Given the description of an element on the screen output the (x, y) to click on. 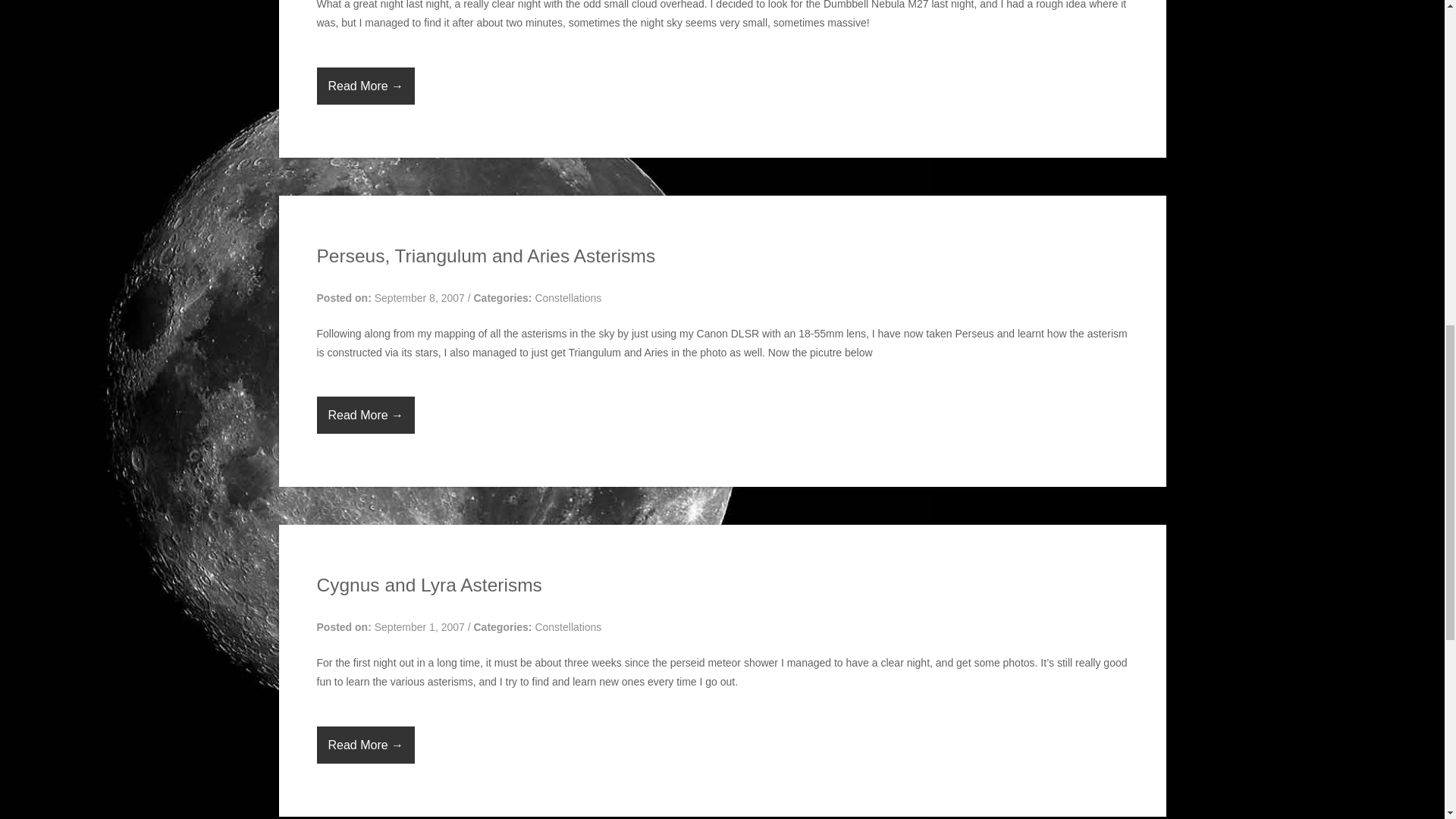
More (365, 744)
Cygnus and Lyra Asterisms (429, 584)
More (365, 415)
More (365, 85)
Constellations (567, 626)
Constellations (567, 297)
Perseus, Triangulum and Aries Asterisms (486, 255)
